Given the description of an element on the screen output the (x, y) to click on. 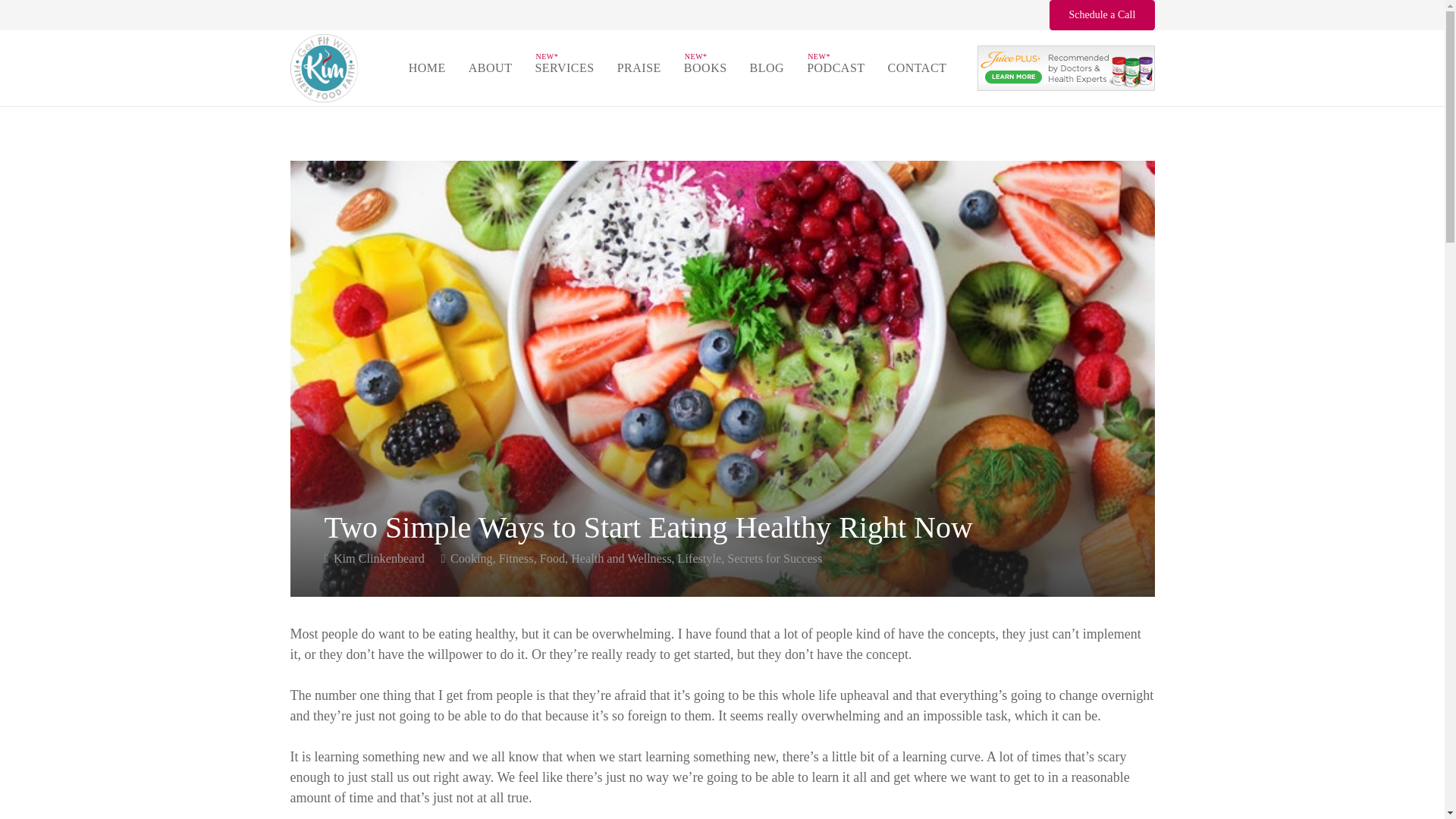
CONTACT (917, 67)
Food (552, 558)
Schedule a Call (1101, 14)
BLOG (767, 67)
Health and Wellness (620, 558)
Kim Clinkenbeard (379, 558)
ABOUT (490, 67)
PODCAST (835, 67)
PRAISE (638, 67)
HOME (427, 67)
